Given the description of an element on the screen output the (x, y) to click on. 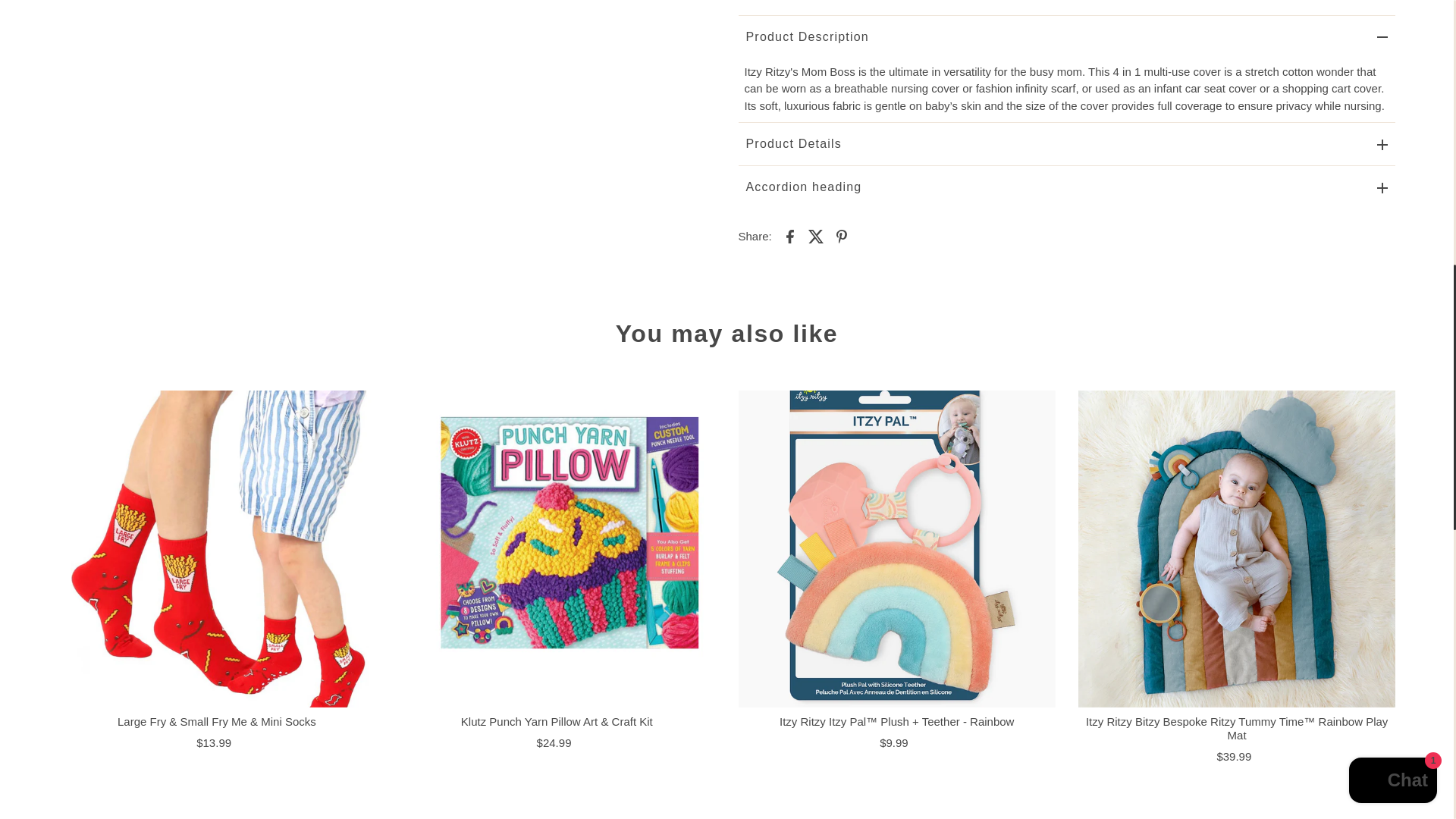
Share on Facebook (790, 235)
Share on Twitter (816, 235)
Share on Pinterest (841, 235)
